Given the description of an element on the screen output the (x, y) to click on. 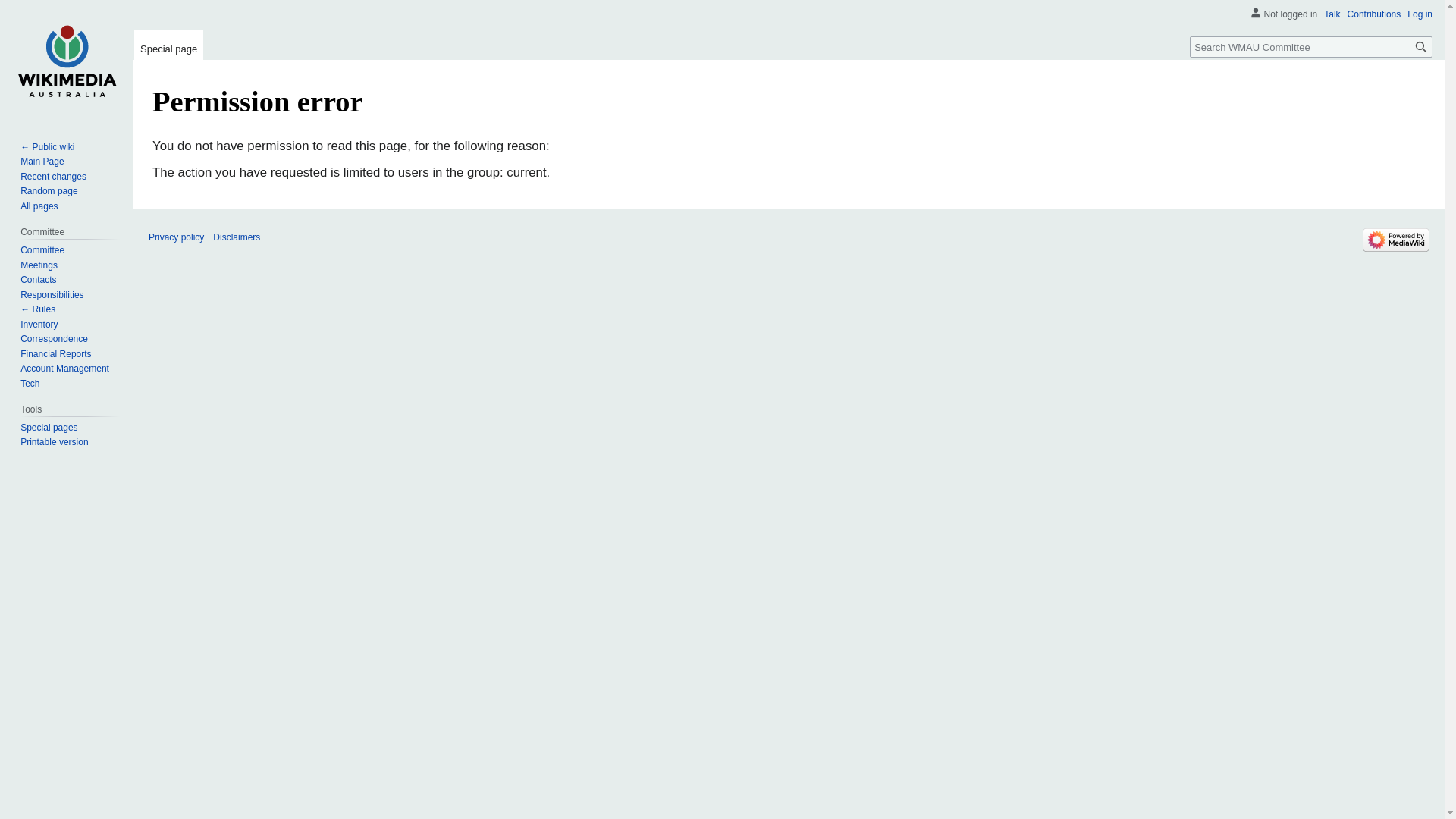
Contacts Element type: text (38, 279)
Recent changes Element type: text (53, 176)
Printable version Element type: text (53, 441)
Talk Element type: text (1331, 14)
Account Management Element type: text (64, 368)
Correspondence Element type: text (53, 338)
Search Element type: text (1420, 46)
Inventory Element type: text (38, 324)
Special page Element type: text (168, 45)
Contributions Element type: text (1374, 14)
Main Page Element type: text (41, 161)
Responsibilities Element type: text (51, 294)
All pages Element type: text (38, 205)
Log in Element type: text (1419, 14)
Meetings Element type: text (38, 265)
Tech Element type: text (29, 383)
Jump to navigation Element type: text (151, 135)
Committee Element type: text (42, 249)
Random page Element type: text (48, 190)
Privacy policy Element type: text (175, 237)
Visit the main page Element type: hover (66, 60)
Special pages Element type: text (48, 427)
Search WMAU Committee [alt-shift-f] Element type: hover (1310, 46)
Disclaimers Element type: text (236, 237)
Financial Reports Element type: text (55, 353)
Search the pages for this text Element type: hover (1420, 46)
